Given the description of an element on the screen output the (x, y) to click on. 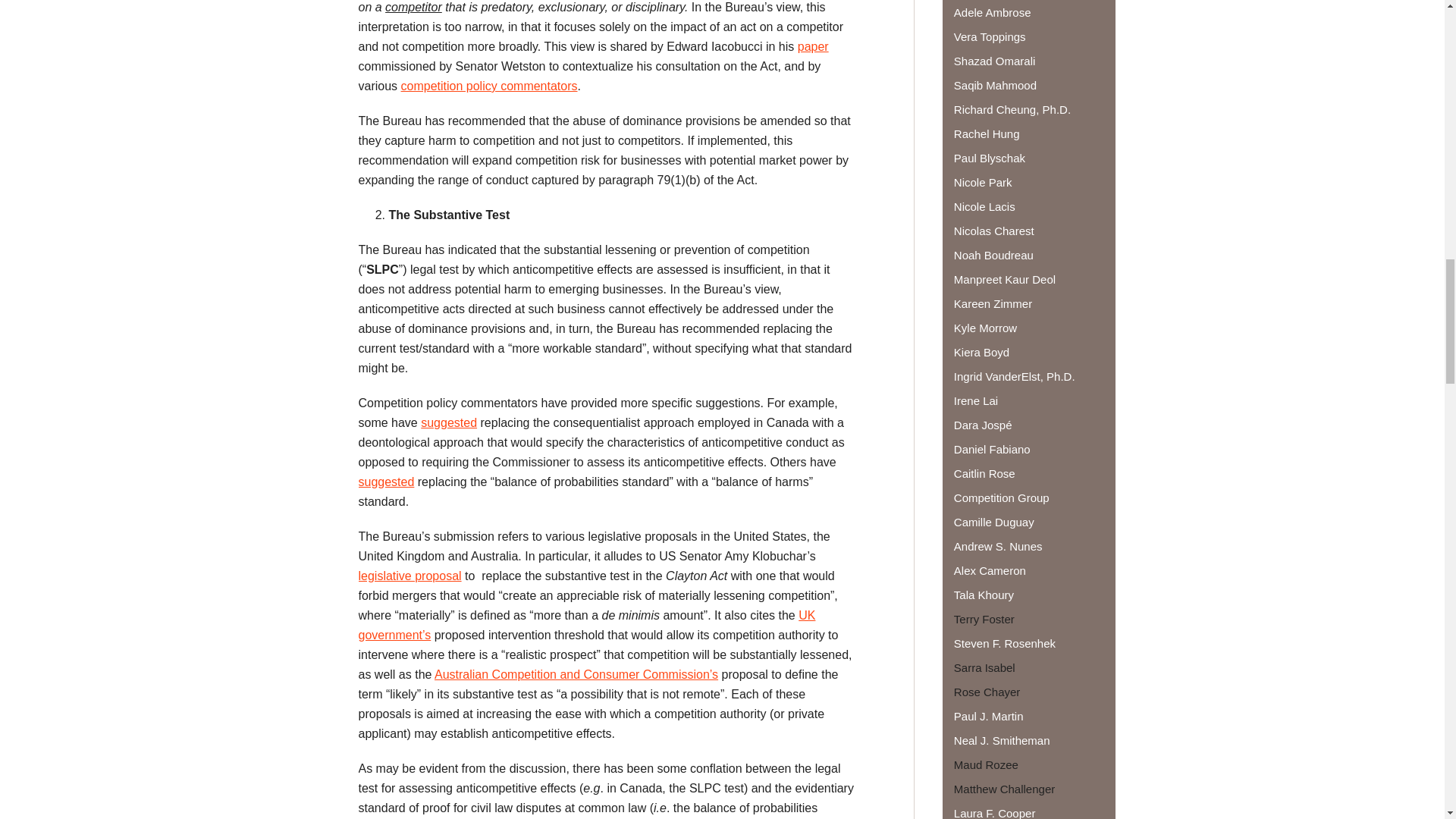
paper (812, 46)
competition policy commentators (489, 85)
suggested (385, 481)
legislative proposal (409, 575)
suggested (448, 422)
